Given the description of an element on the screen output the (x, y) to click on. 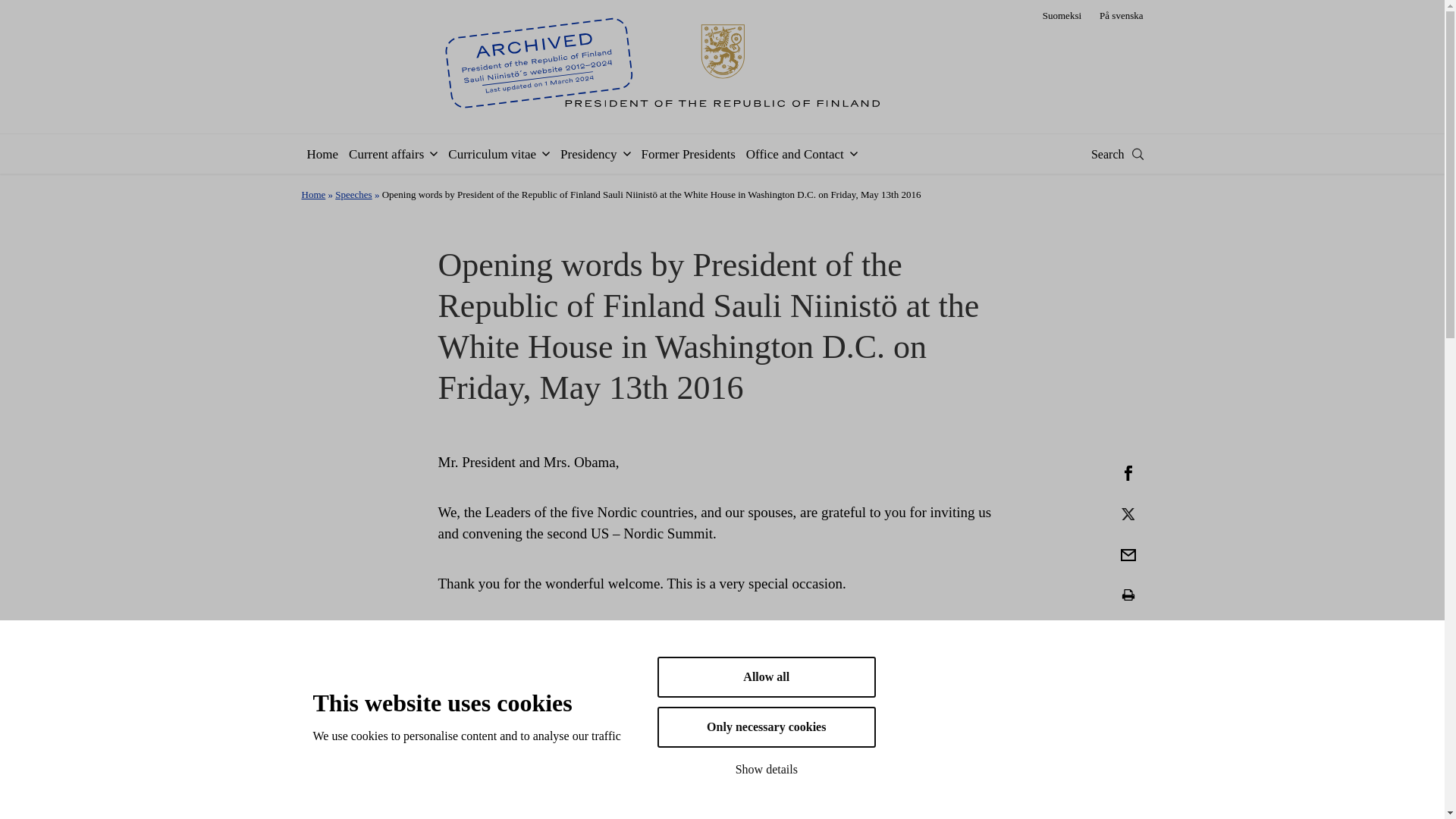
Only necessary cookies (767, 730)
2B71E001-4E7E-4F45-B49E-5CA1C20B2696 (1128, 513)
Allow all (767, 712)
Show details (767, 769)
